Given the description of an element on the screen output the (x, y) to click on. 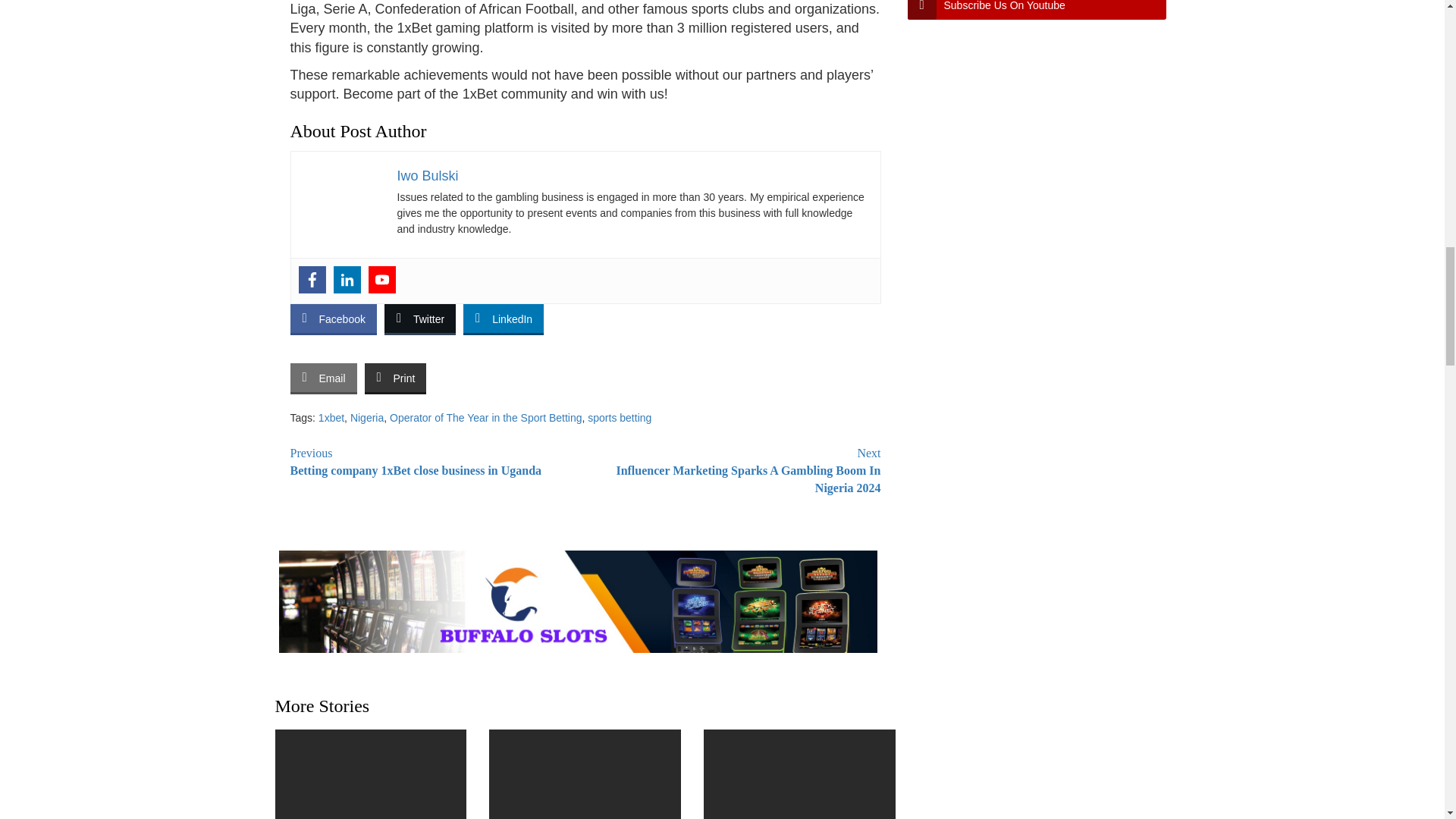
Linkedin (347, 279)
Facebook (312, 279)
Youtube (382, 279)
